Given the description of an element on the screen output the (x, y) to click on. 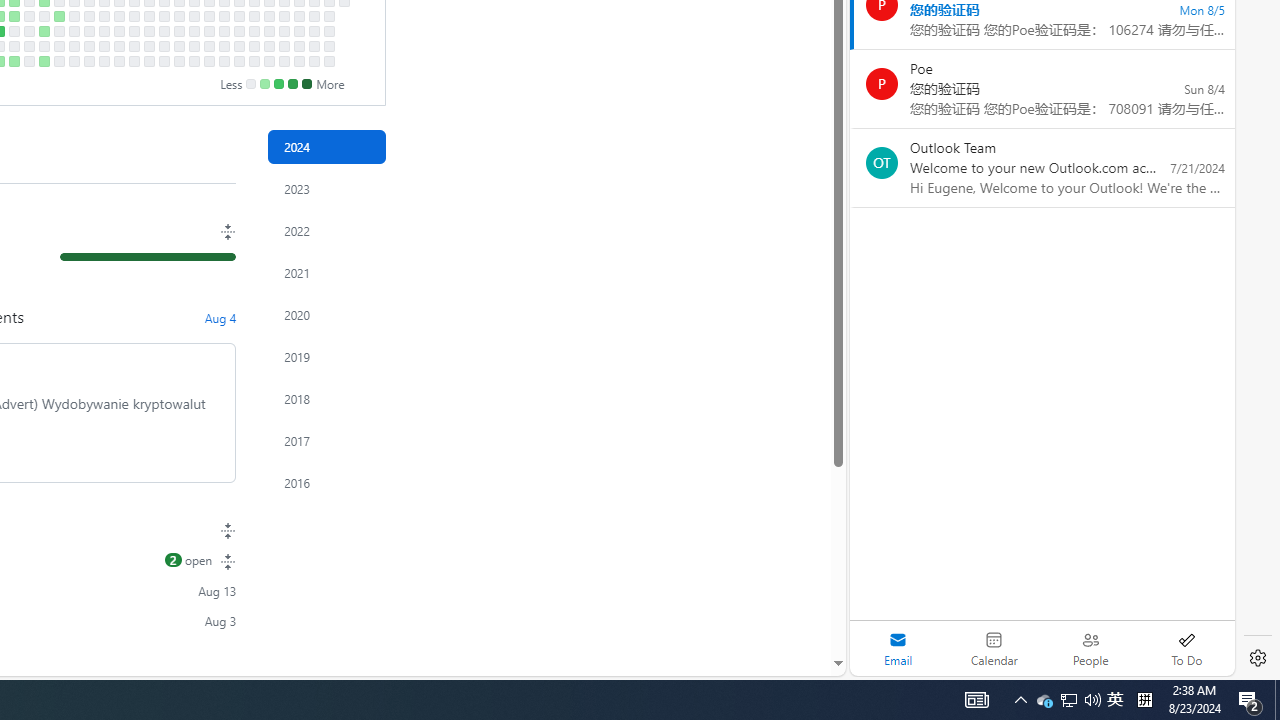
No contributions on November 29th. (268, 46)
No contributions on November 27th. (268, 16)
No contributions on August 2nd. (13, 46)
No contributions on December 5th. (283, 30)
No contributions on December 7th. (283, 61)
No contributions on December 11th. (298, 16)
No contributions on October 12th. (163, 61)
No contributions on October 16th. (178, 16)
No contributions on August 9th. (28, 46)
Contribution activity in 2022 (326, 230)
2019 (326, 356)
No contributions on November 1st. (209, 46)
No contributions on September 28th. (133, 61)
No contributions on November 21st. (253, 30)
No contributions on August 14th. (43, 16)
